Given the description of an element on the screen output the (x, y) to click on. 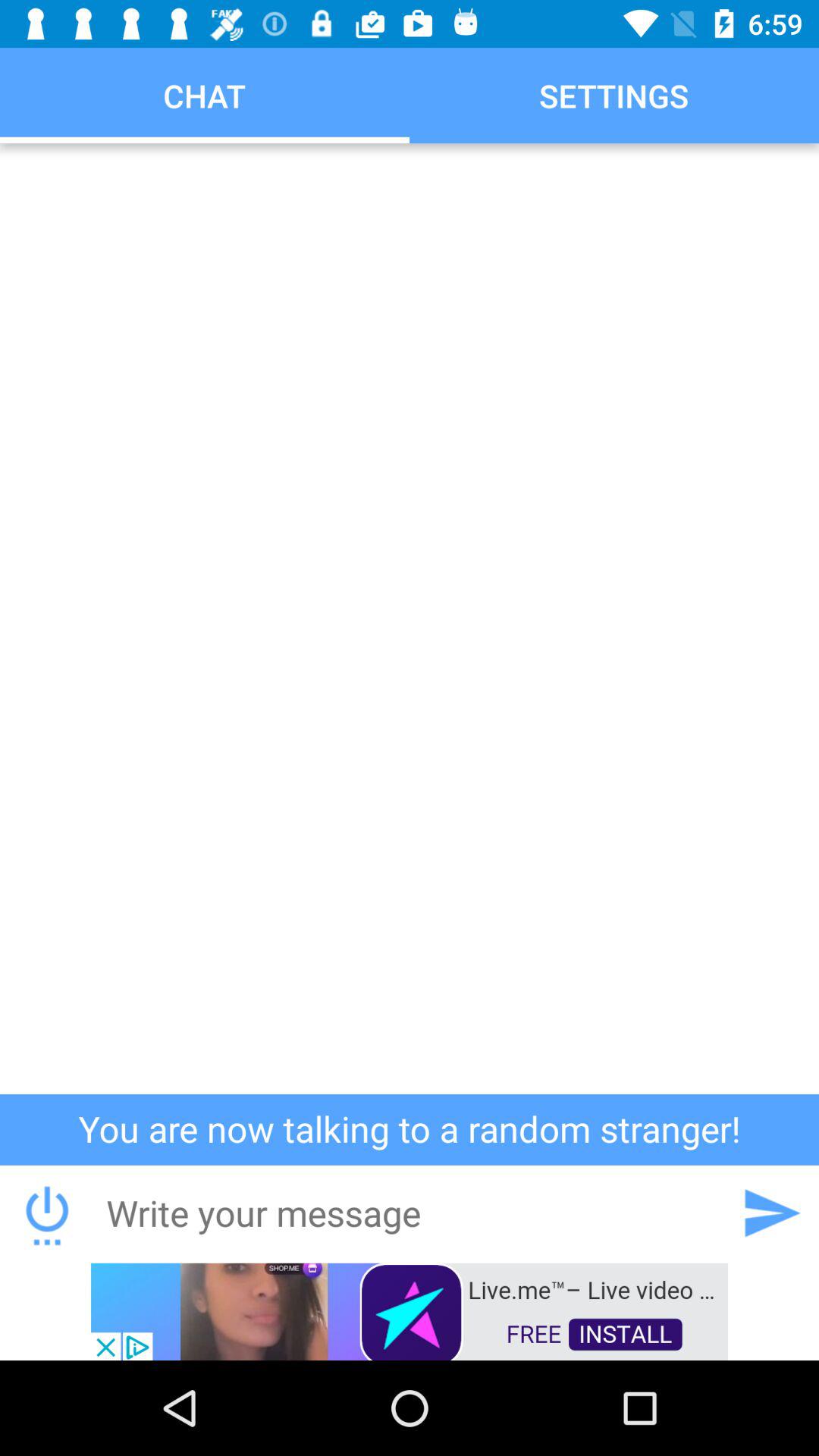
downloads the conversation (47, 1212)
